Given the description of an element on the screen output the (x, y) to click on. 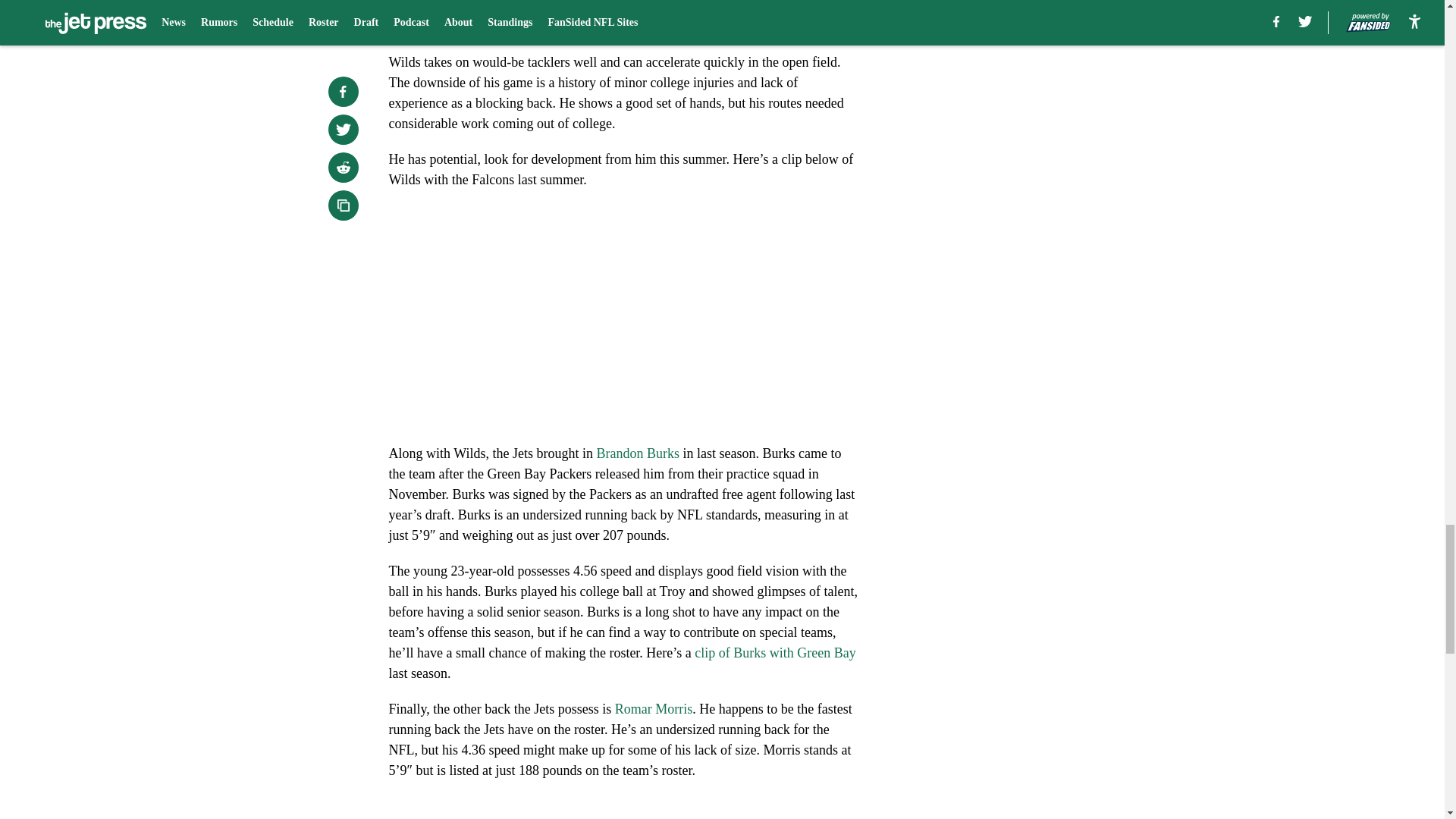
Brandon Burks (637, 453)
Romar Morris (653, 708)
clip of Burks with Green Bay (775, 652)
